Given the description of an element on the screen output the (x, y) to click on. 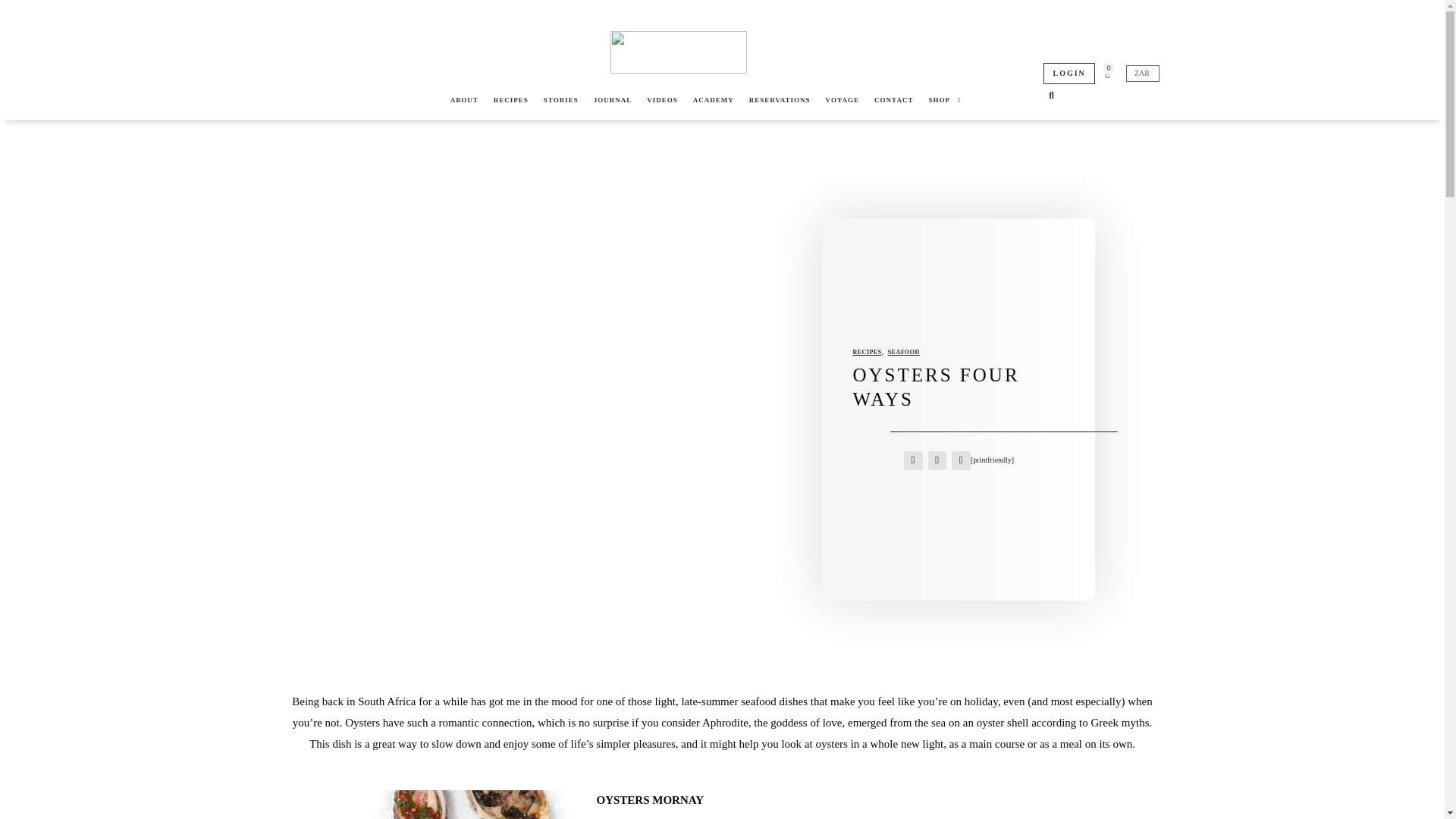
RESERVATIONS (779, 100)
VOYAGE (842, 100)
STORIES (560, 100)
JOURNAL (613, 100)
ABOUT (464, 100)
SHOP (944, 100)
ACADEMY (713, 100)
CONTACT (893, 100)
RECIPES (510, 100)
LOGIN (1068, 73)
